Given the description of an element on the screen output the (x, y) to click on. 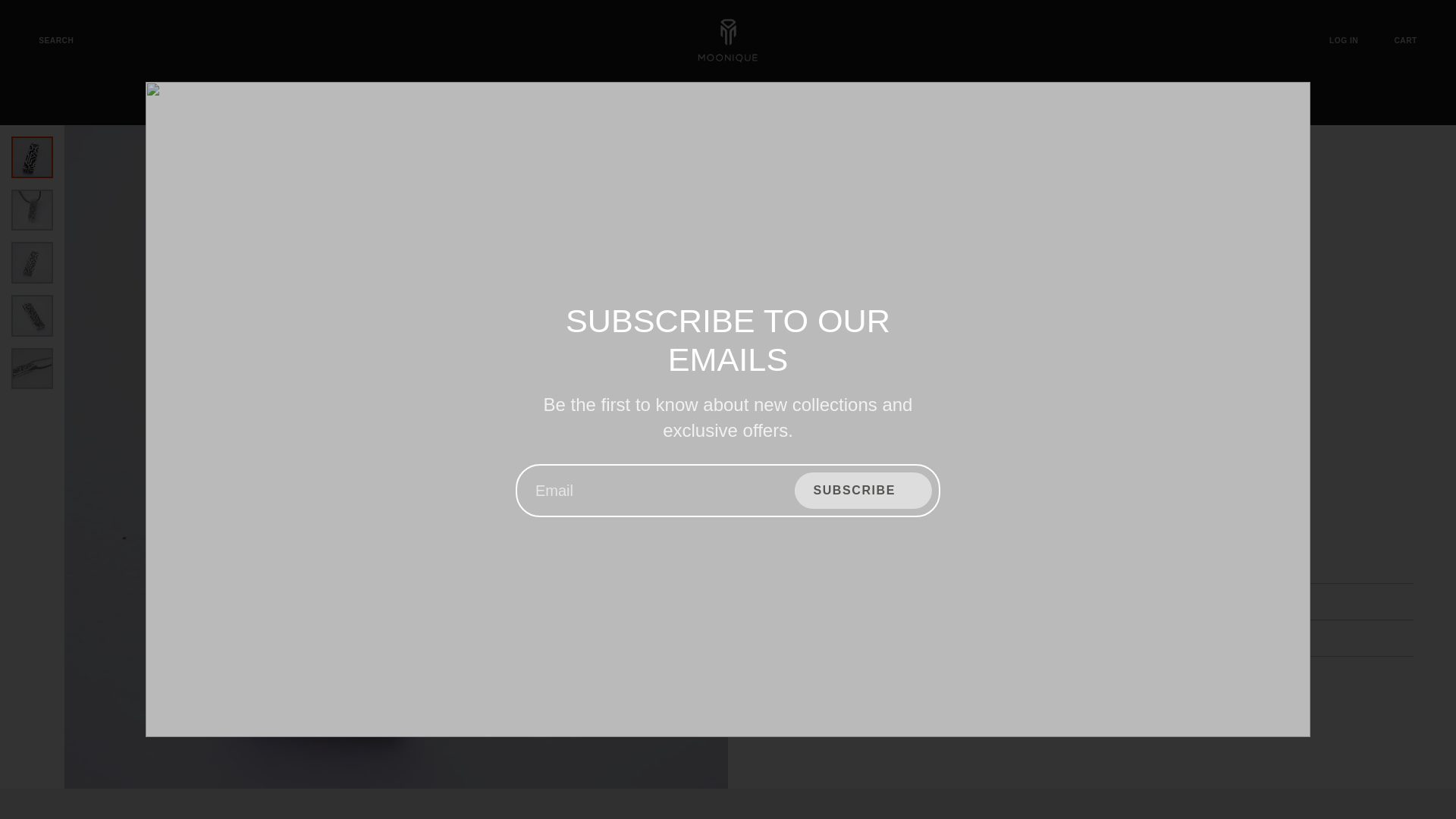
SEARCH (45, 40)
FEATURED (466, 104)
COLECTIONS (1060, 104)
CUSTOM (563, 104)
CART (1415, 40)
JOURNAL (834, 104)
SHOP (370, 104)
ABOUT (752, 104)
COLLECTIONS (938, 104)
LOG IN (1353, 40)
CONTACT US (660, 104)
